Given the description of an element on the screen output the (x, y) to click on. 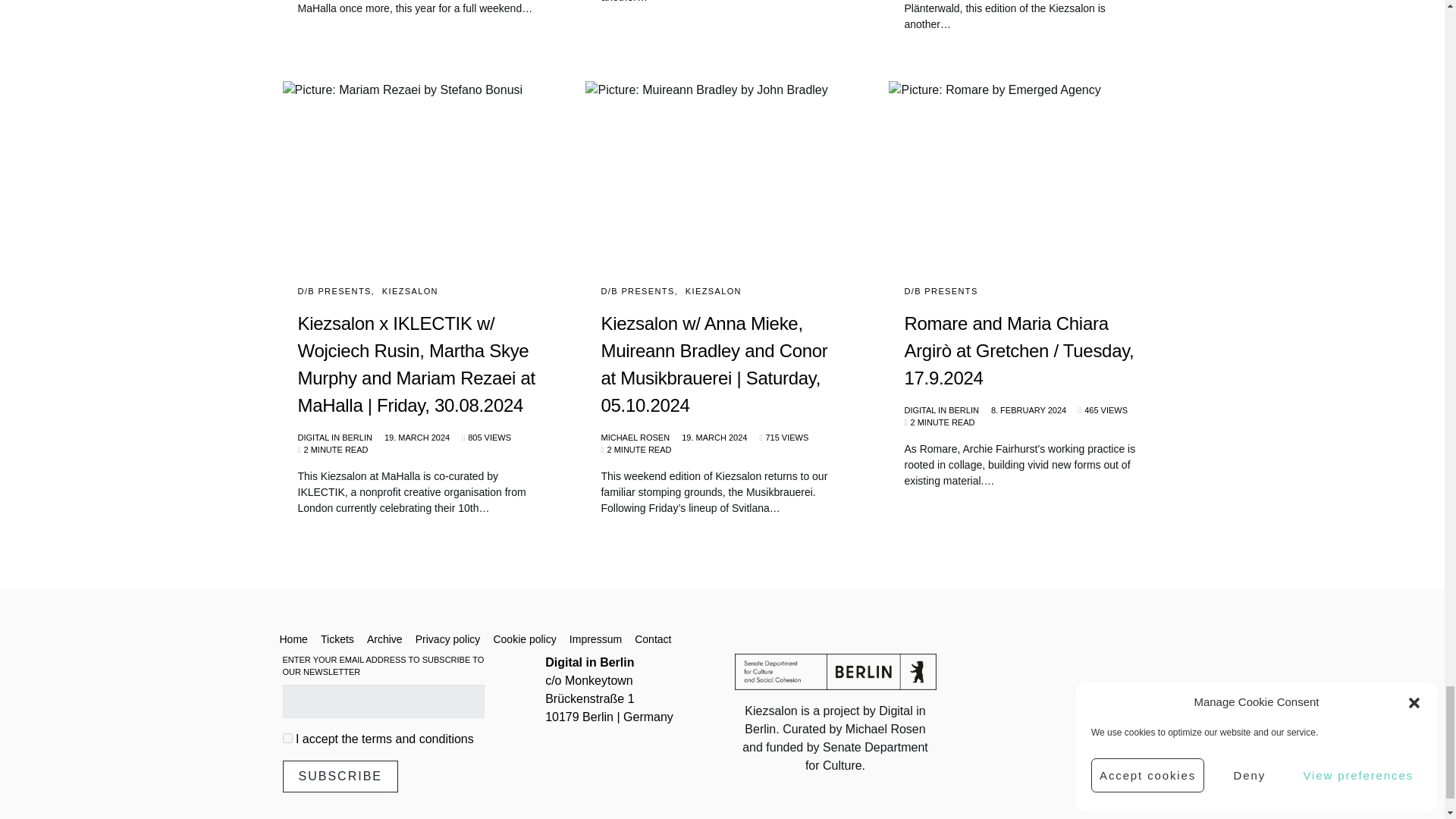
on (287, 737)
Subscribe (339, 776)
